Given the description of an element on the screen output the (x, y) to click on. 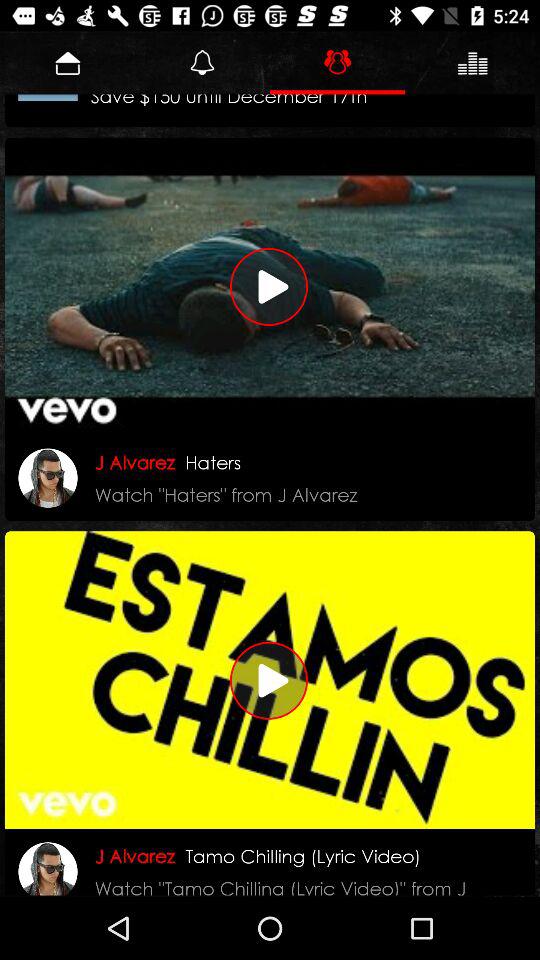
turn off the item to the left of ste anne s icon (47, 97)
